Given the description of an element on the screen output the (x, y) to click on. 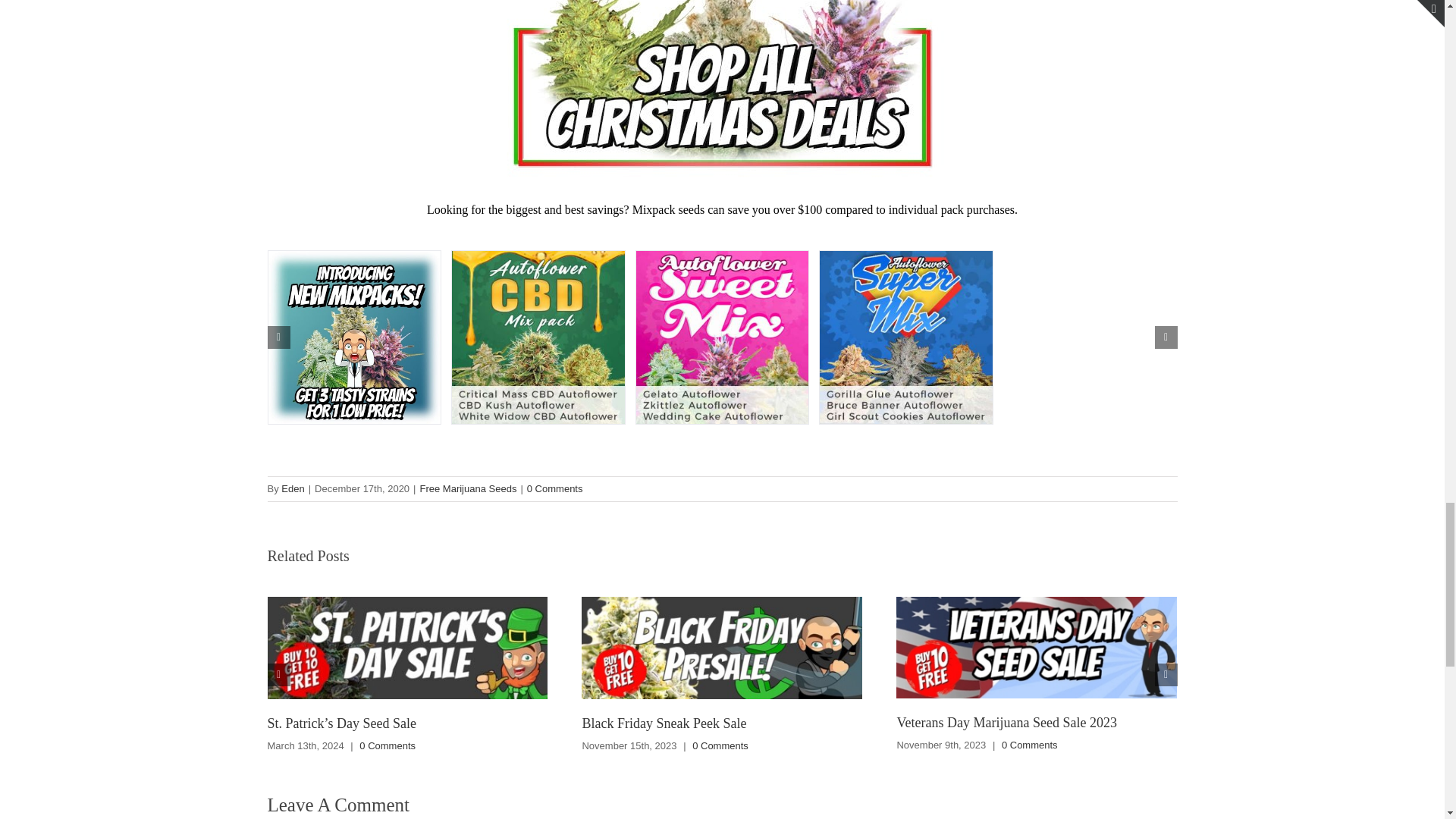
0 Comments (555, 488)
0 Comments (386, 745)
Eden (292, 488)
Black Friday Sneak Peek Sale (662, 723)
Veterans Day Marijuana Seed Sale 2023 (1006, 722)
Free Marijuana Seeds (467, 488)
0 Comments (720, 745)
